Given the description of an element on the screen output the (x, y) to click on. 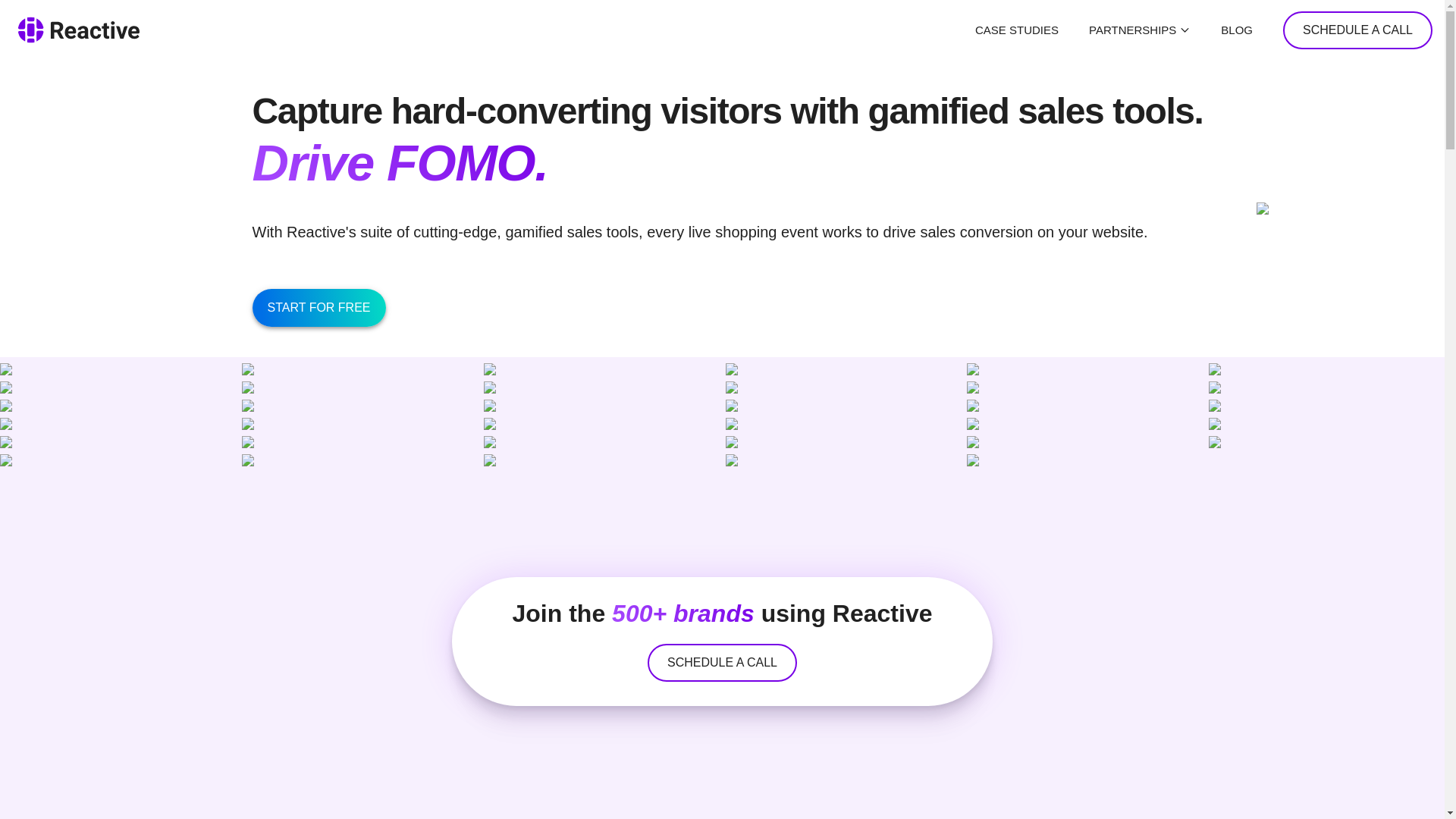
START FOR FREE (328, 307)
PARTNERSHIPS (1140, 29)
SCHEDULE A CALL (1357, 29)
BLOG (1236, 29)
CASE STUDIES (1016, 29)
START FOR FREE (318, 307)
SCHEDULE A CALL (721, 662)
